Given the description of an element on the screen output the (x, y) to click on. 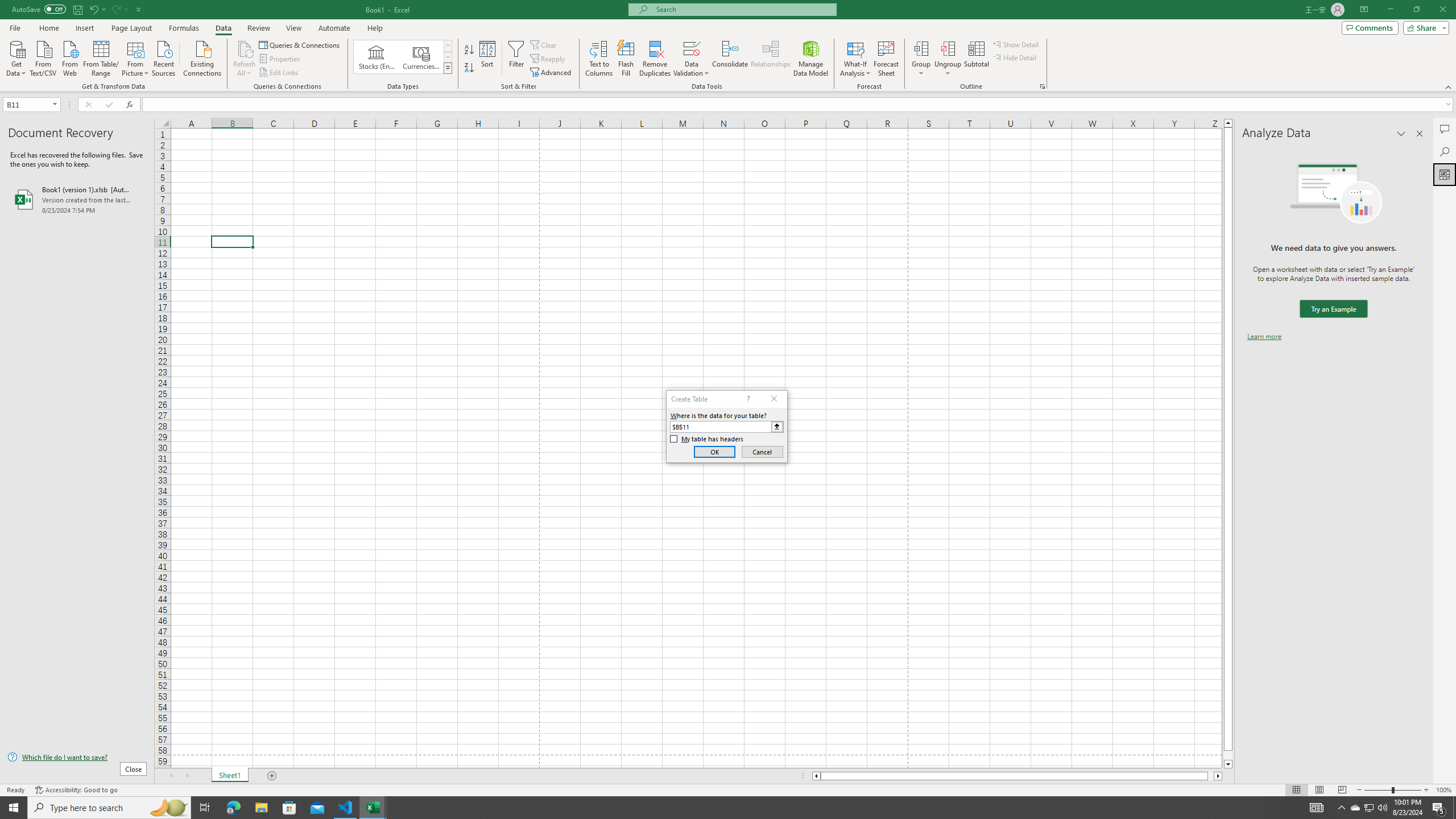
Remove Duplicates (654, 58)
Insert (83, 28)
Existing Connections (202, 57)
